Given the description of an element on the screen output the (x, y) to click on. 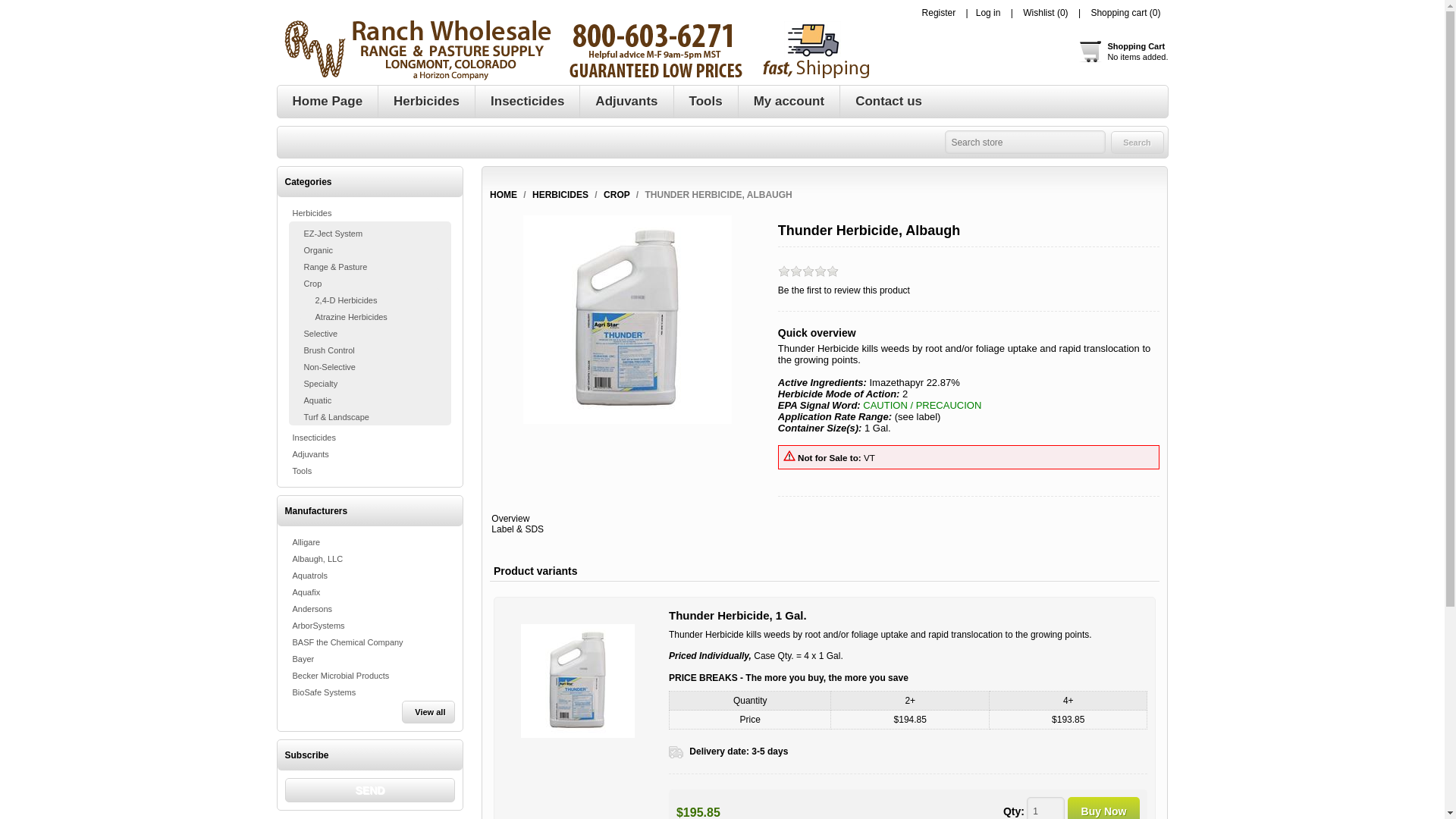
Register (1122, 51)
Buy Now (938, 12)
Thunder Herbicide, 1 Gal., Albaugh (1103, 807)
Herbicides (577, 680)
Send (426, 101)
1 (370, 790)
Search (1045, 807)
Search (1136, 141)
Ranch Wholesale (1136, 141)
Log in (572, 50)
Insecticides (988, 12)
Home Page (527, 101)
